Given the description of an element on the screen output the (x, y) to click on. 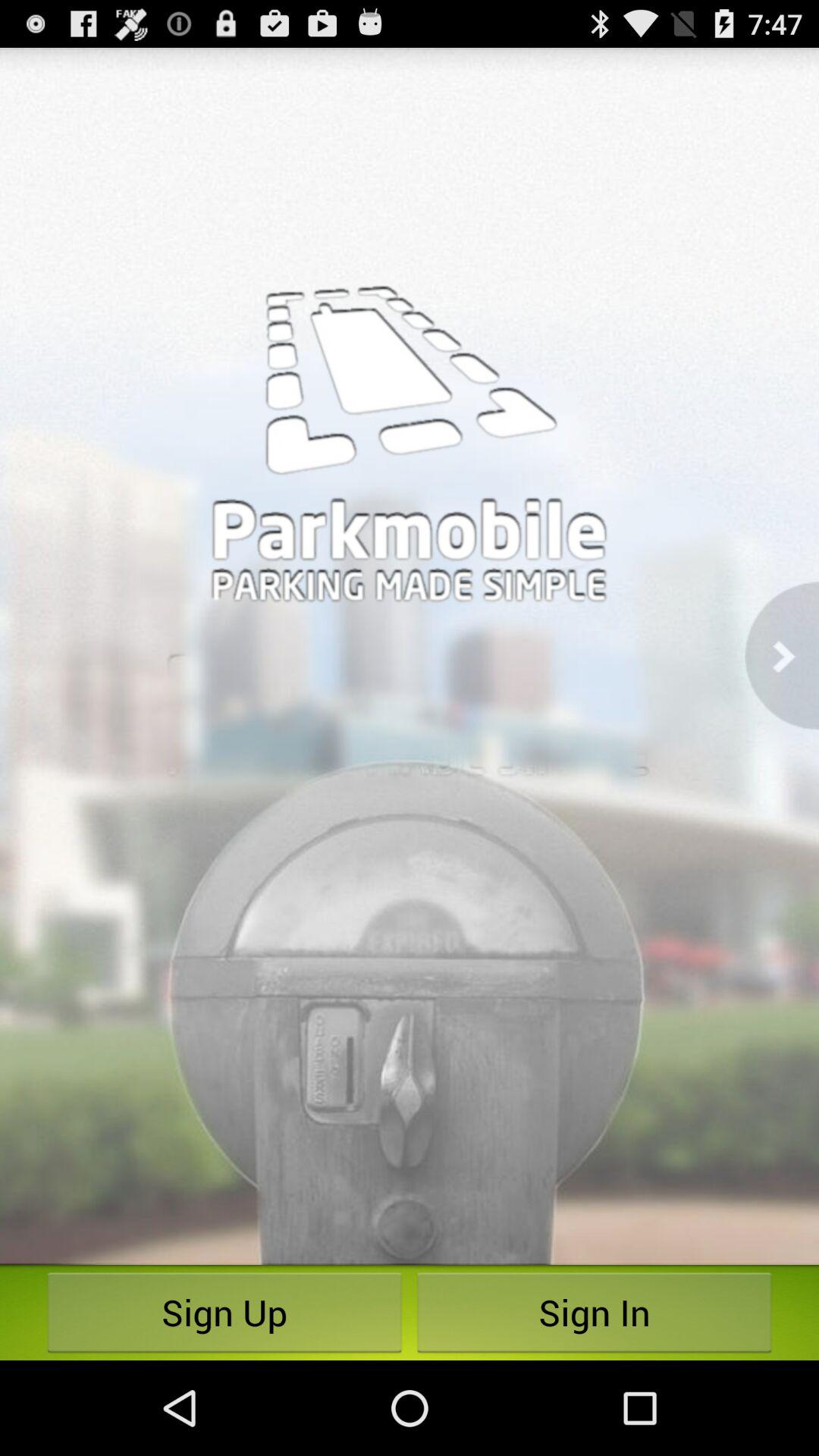
open the icon next to the sign in icon (224, 1312)
